Given the description of an element on the screen output the (x, y) to click on. 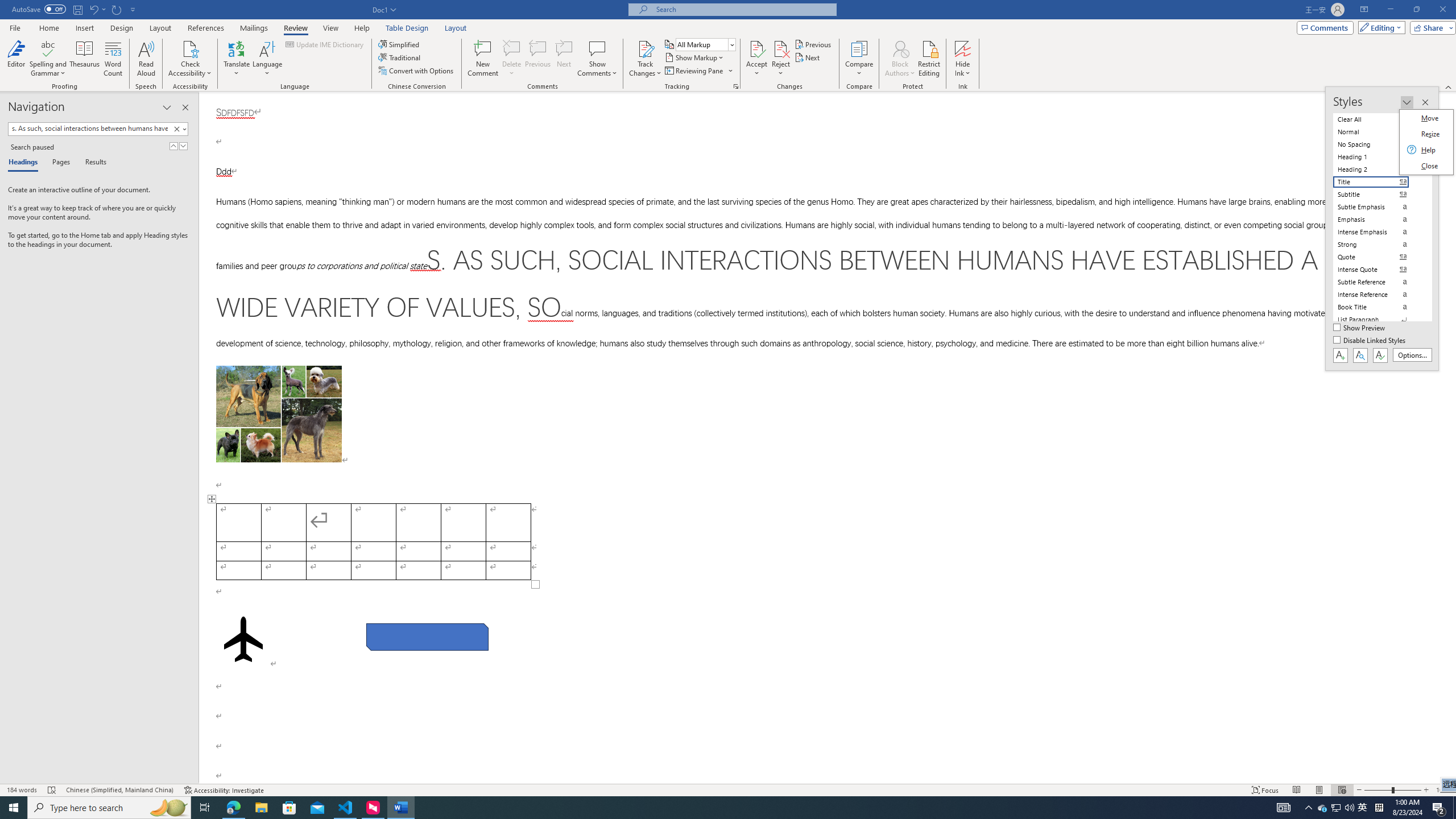
Microsoft Edge - 1 running window (233, 807)
Running applications (700, 807)
Spelling and Grammar (48, 48)
Track Changes (644, 58)
Reviewing Pane (698, 69)
Repeat Style (117, 9)
